Given the description of an element on the screen output the (x, y) to click on. 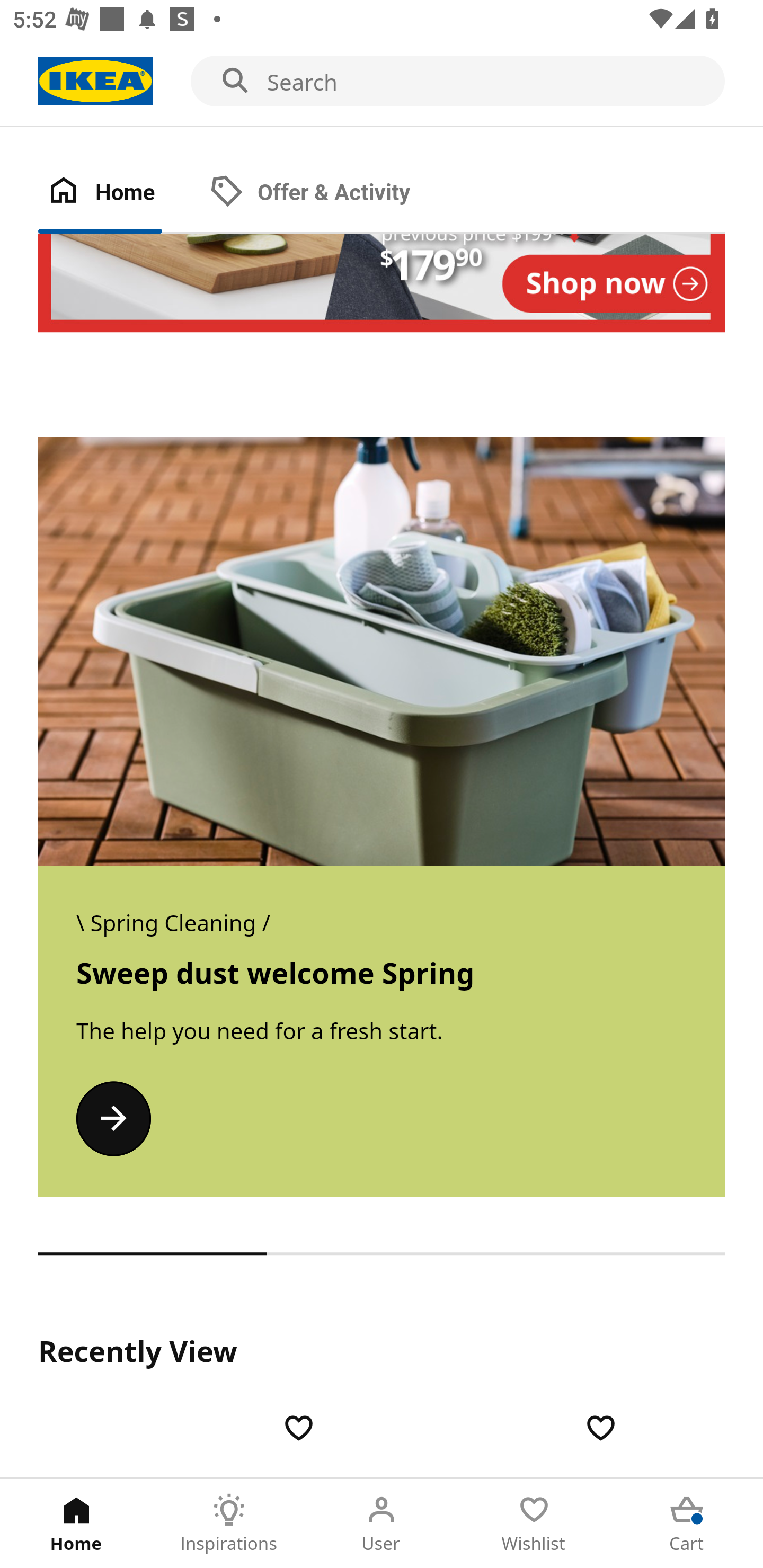
Search (381, 81)
Home
Tab 1 of 2 (118, 192)
Offer & Activity
Tab 2 of 2 (327, 192)
Home
Tab 1 of 5 (76, 1522)
Inspirations
Tab 2 of 5 (228, 1522)
User
Tab 3 of 5 (381, 1522)
Wishlist
Tab 4 of 5 (533, 1522)
Cart
Tab 5 of 5 (686, 1522)
